Given the description of an element on the screen output the (x, y) to click on. 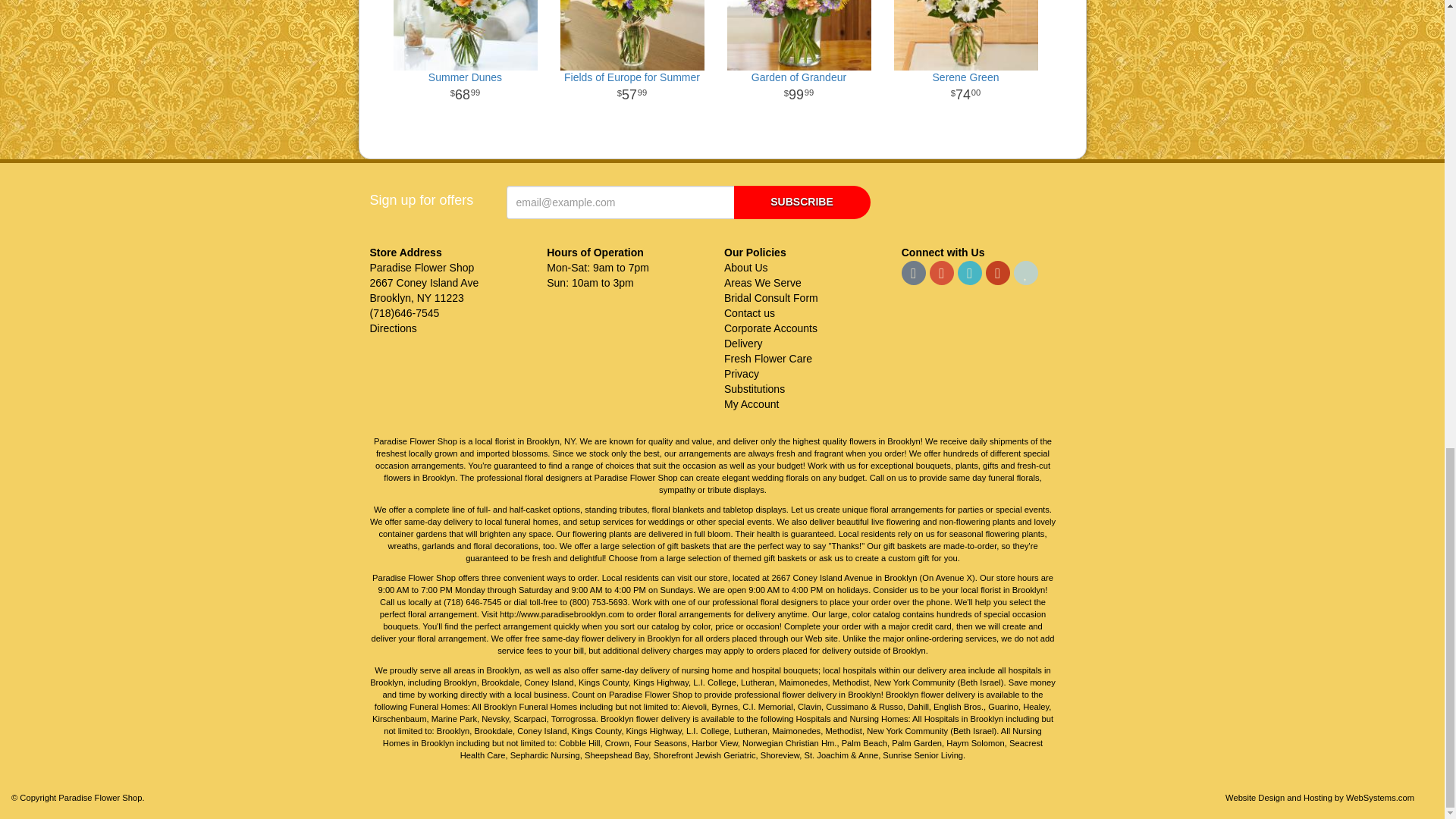
Subscribe (801, 202)
